Given the description of an element on the screen output the (x, y) to click on. 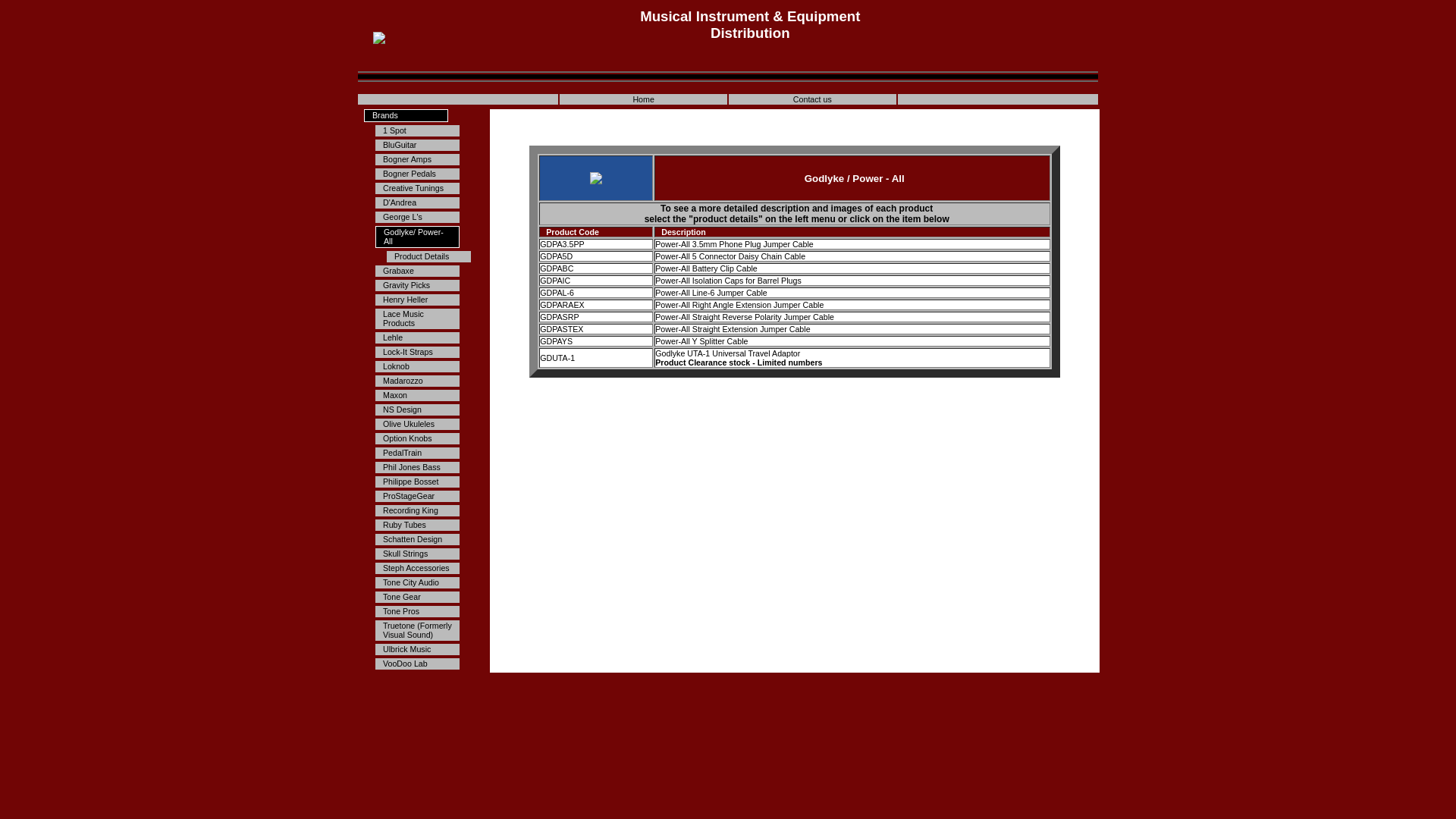
George L's Element type: text (417, 216)
Phil Jones Bass Element type: text (417, 467)
Steph Accessories Element type: text (417, 568)
Olive Ukuleles Element type: text (417, 423)
GDPA5D Element type: text (555, 255)
BluGuitar Element type: text (417, 144)
GDPASTEX Element type: text (561, 328)
ProStageGear Element type: text (417, 496)
Contact us Element type: text (812, 98)
Power-All Line-6 Jumper Cable Element type: text (710, 292)
Lehle Element type: text (417, 337)
Bogner Pedals Element type: text (417, 173)
Brands Element type: text (405, 115)
Madarozzo Element type: text (417, 380)
Option Knobs Element type: text (417, 438)
Lock-It Straps Element type: text (417, 351)
Philippe Bosset Element type: text (417, 481)
GDPARAEX Element type: text (561, 304)
Ulbrick Music Element type: text (417, 649)
Schatten Design Element type: text (417, 539)
Power-All Straight Extension Jumper Cable Element type: text (732, 328)
Power-All 5 Connector Daisy Chain Cable Element type: text (730, 255)
Contact us Element type: text (812, 99)
Tone City Audio Element type: text (417, 582)
D'Andrea Element type: text (417, 202)
Bogner Amps Element type: text (417, 159)
Creative Tunings Element type: text (417, 188)
GDPASRP Element type: text (558, 316)
Truetone (Formerly Visual Sound) Element type: text (417, 630)
Power-All Straight Reverse Polarity Jumper Cable Element type: text (744, 316)
Ruby Tubes Element type: text (417, 524)
GDPABC Element type: text (556, 268)
VooDoo Lab Element type: text (417, 663)
GDPAIC Element type: text (554, 280)
Henry Heller Element type: text (417, 299)
Power-All Right Angle Extension Jumper Cable Element type: text (739, 304)
Tone Gear Element type: text (417, 596)
Home Element type: text (643, 99)
Godlyke UTA-1 Universal Travel Adaptor Element type: text (727, 352)
PedalTrain Element type: text (417, 452)
Lace Music Products Element type: text (417, 318)
Power-All 3.5mm Phone Plug Jumper Cable  Element type: text (735, 243)
NS Design Element type: text (417, 409)
GDPA3.5PP Element type: text (561, 243)
Recording King Element type: text (417, 510)
Product Details Element type: text (428, 256)
GDPAL-6 Element type: text (556, 292)
Power-All Y Splitter Cable Element type: text (701, 340)
Tone Pros Element type: text (417, 611)
Maxon Element type: text (417, 395)
Loknob Element type: text (417, 366)
Grabaxe Element type: text (417, 270)
Gravity Picks Element type: text (417, 285)
Skull Strings Element type: text (417, 553)
Power-All Battery Clip Cable Element type: text (705, 268)
Power-All Isolation Caps for Barrel Plugs Element type: text (727, 280)
GDUTA-1 Element type: text (556, 357)
1 Spot Element type: text (417, 130)
Godlyke/ Power-All Element type: text (417, 236)
Home Element type: text (642, 98)
GDPAYS Element type: text (555, 340)
